Given the description of an element on the screen output the (x, y) to click on. 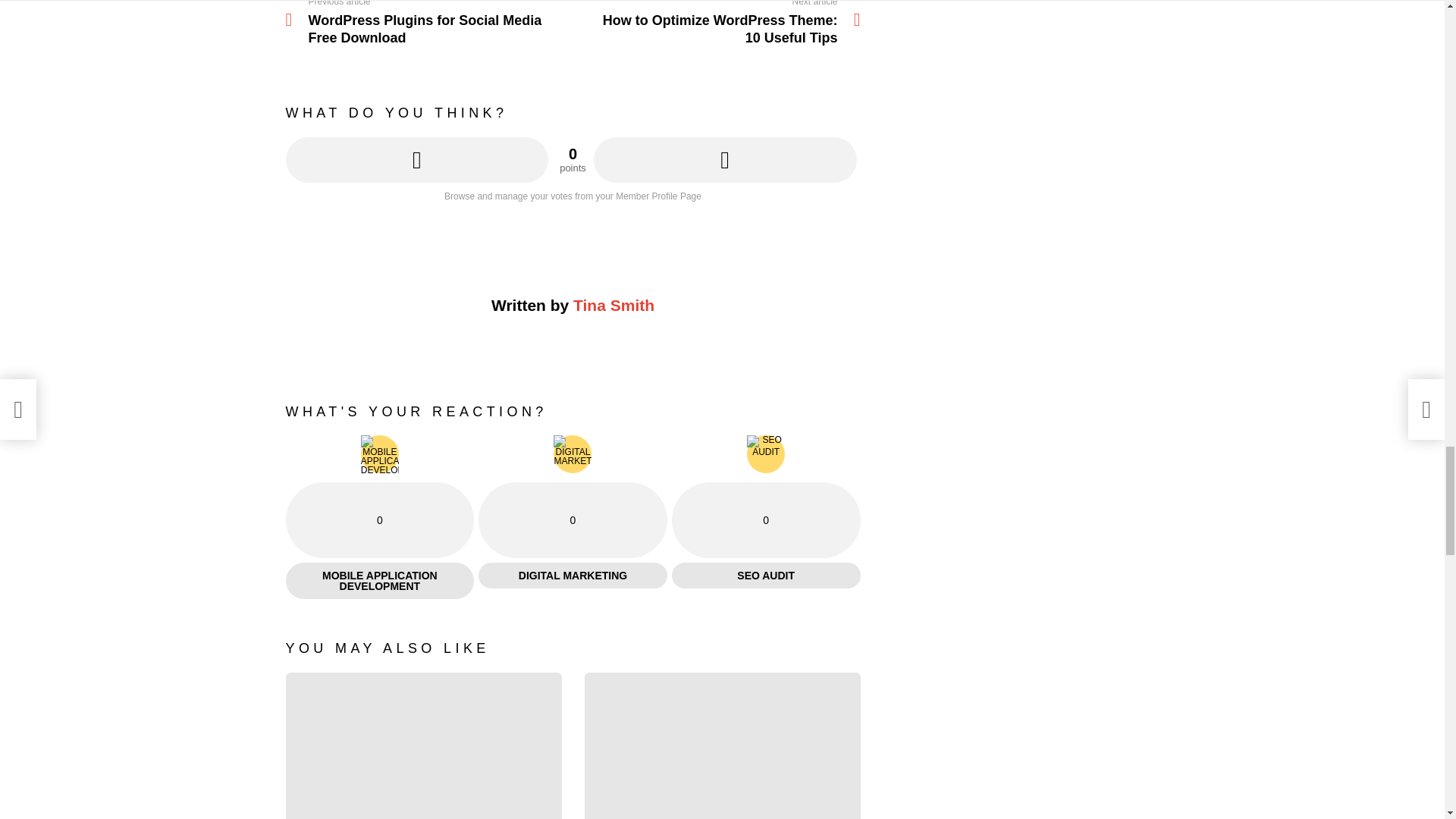
Upvote (416, 159)
Tina Smith (716, 22)
Downvote (613, 304)
